Given the description of an element on the screen output the (x, y) to click on. 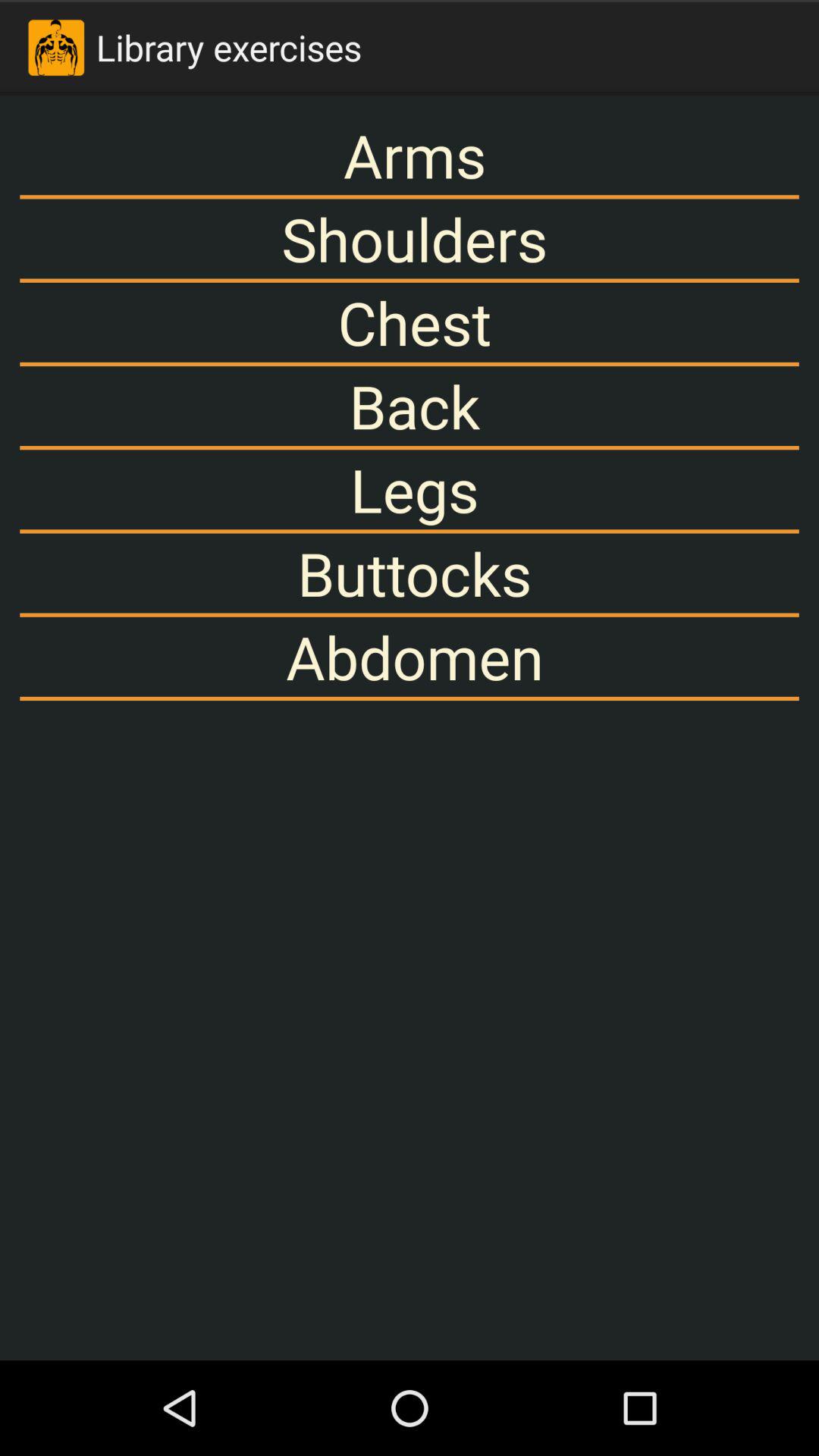
select the icon above the legs (409, 405)
